Given the description of an element on the screen output the (x, y) to click on. 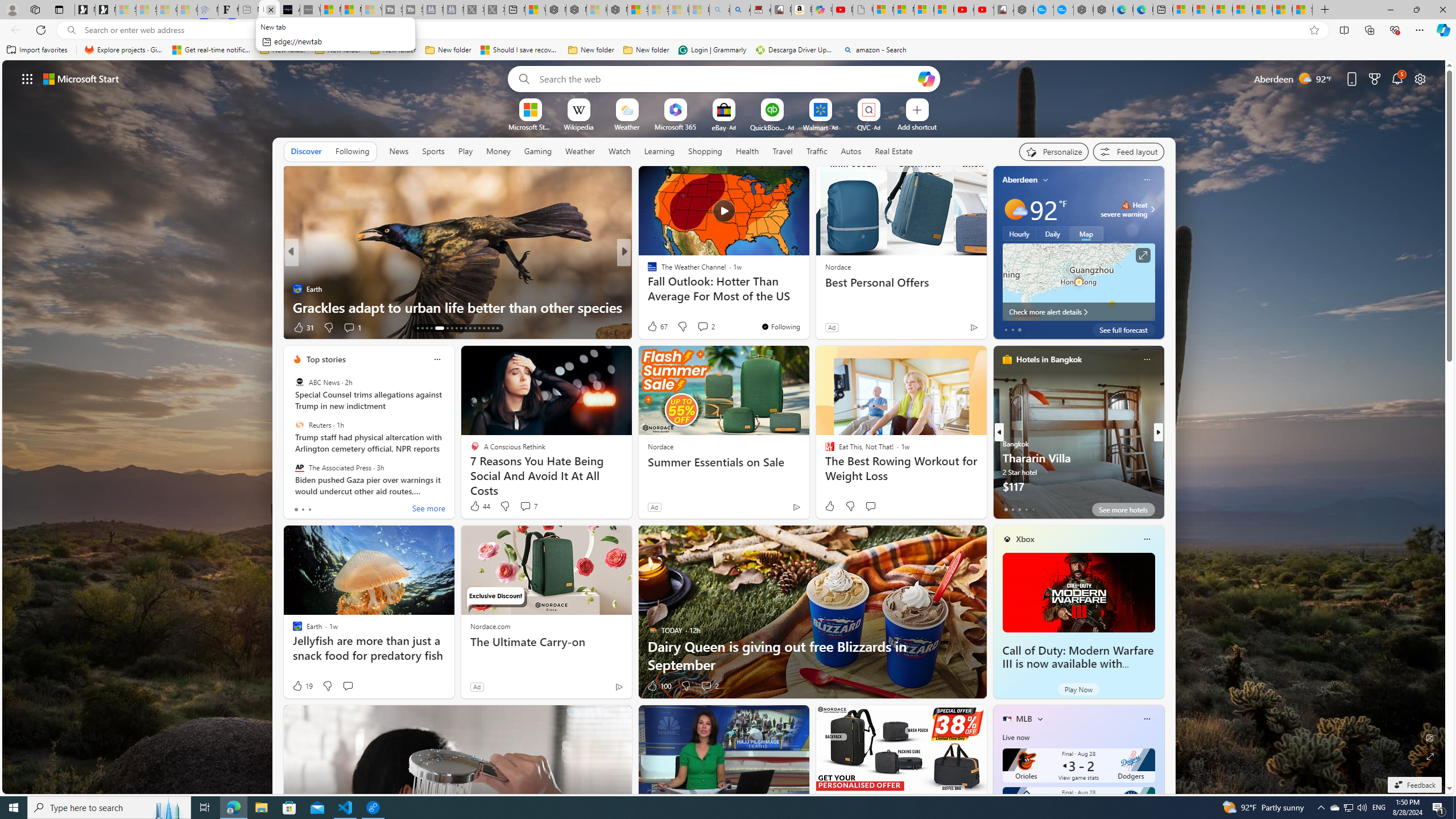
View comments 2 Comment (709, 685)
AutomationID: tab-40 (483, 328)
New tab (1162, 9)
Discover (306, 151)
AutomationID: tab-20 (431, 328)
Real Estate (893, 151)
Newsletter Sign Up (105, 9)
Play Now (1078, 689)
tab-3 (1025, 509)
New tab - Sleeping (248, 9)
Sports (432, 151)
My location (1045, 179)
Ad Choice (619, 686)
